Given the description of an element on the screen output the (x, y) to click on. 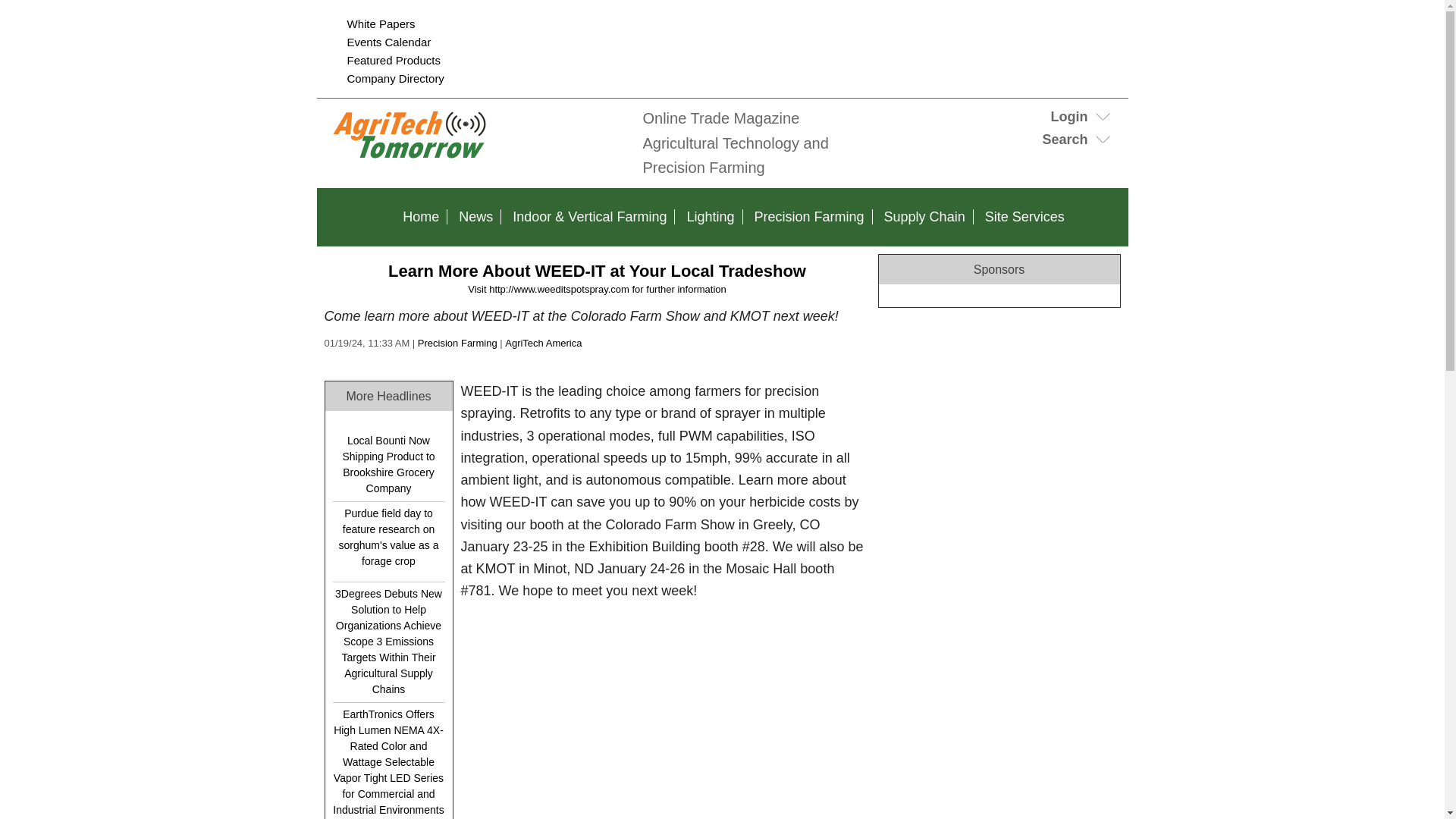
Company Directory (395, 78)
Supply Chain (924, 217)
AgriTechTomorrow (475, 159)
Featured Products (394, 60)
White Papers (380, 23)
Site Services (1023, 217)
Precision Farming (457, 342)
News (475, 217)
